Given the description of an element on the screen output the (x, y) to click on. 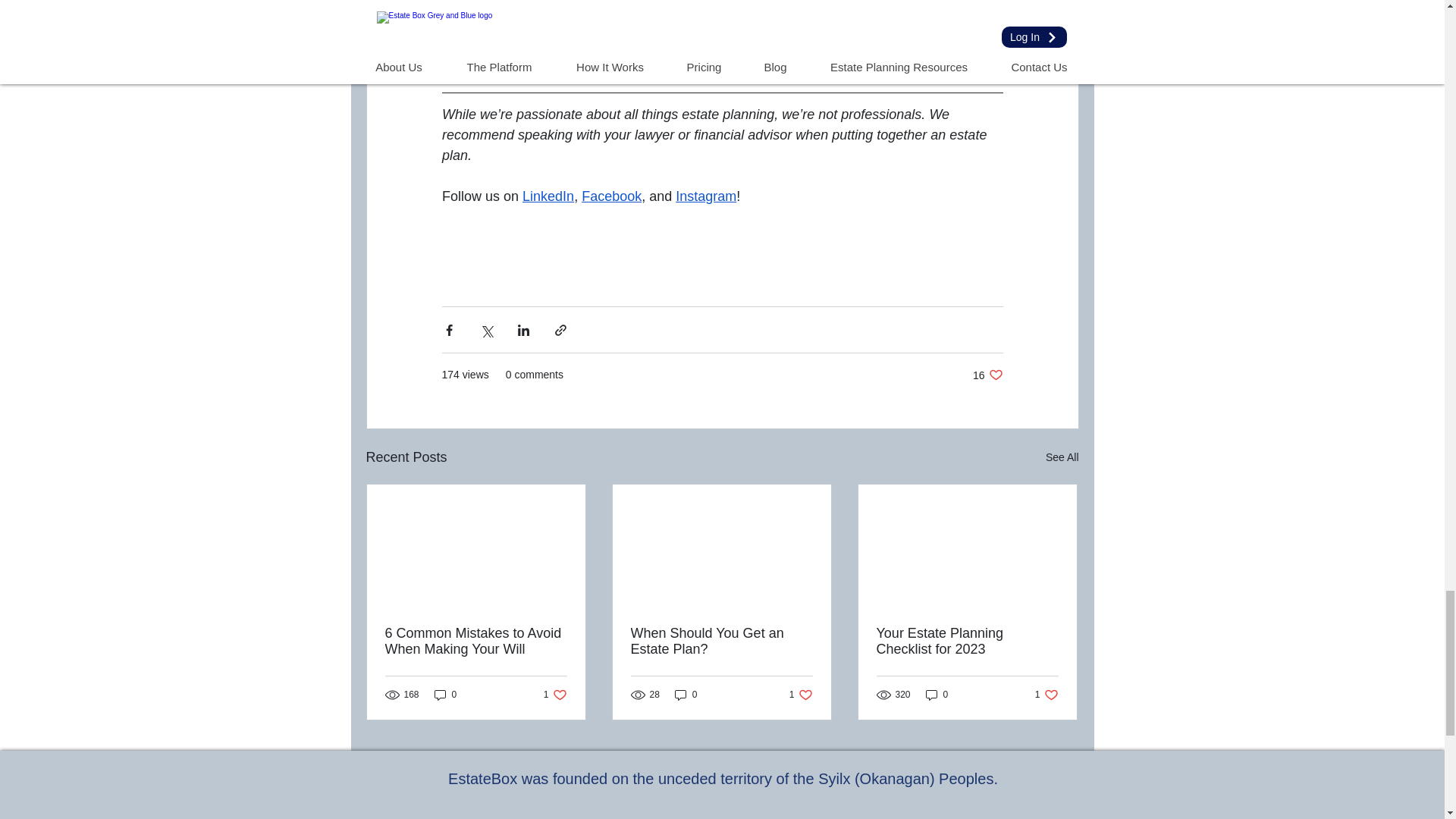
0 (445, 694)
0 (685, 694)
Why Estate Planners Need Modern Software More Than Ever (654, 48)
6 Common Mistakes to Avoid When Making Your Will (555, 694)
Why Digital Assets Are Critical to Estate Planning in 2021 (476, 641)
LinkedIn (640, 28)
When Should You Get an Estate Plan? (547, 196)
Instagram (721, 641)
